Given the description of an element on the screen output the (x, y) to click on. 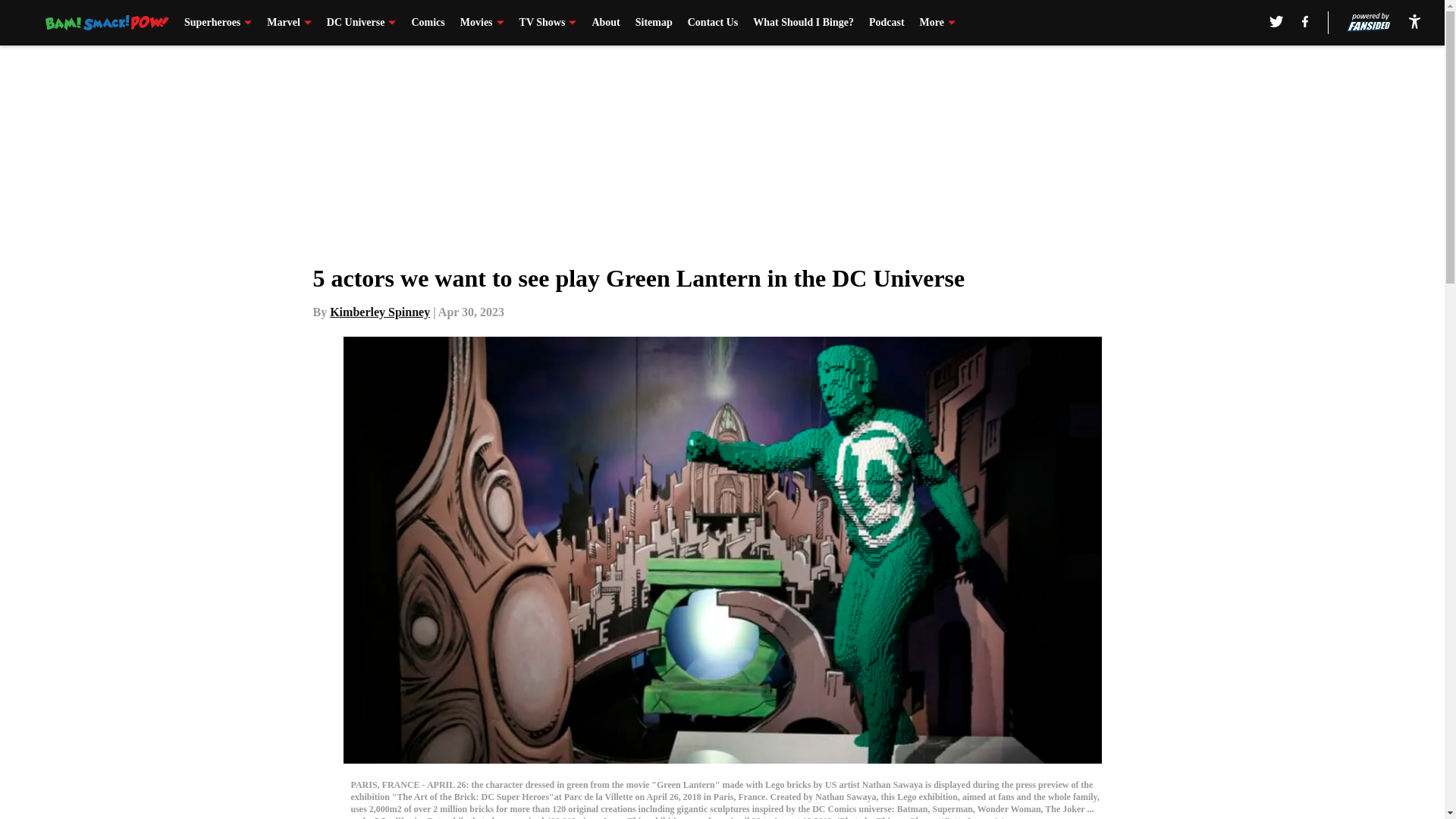
Sitemap (653, 22)
About (605, 22)
Movies (481, 22)
What Should I Binge? (802, 22)
Podcast (886, 22)
Contact Us (712, 22)
Comics (427, 22)
More (937, 22)
Kimberley Spinney (379, 311)
